Given the description of an element on the screen output the (x, y) to click on. 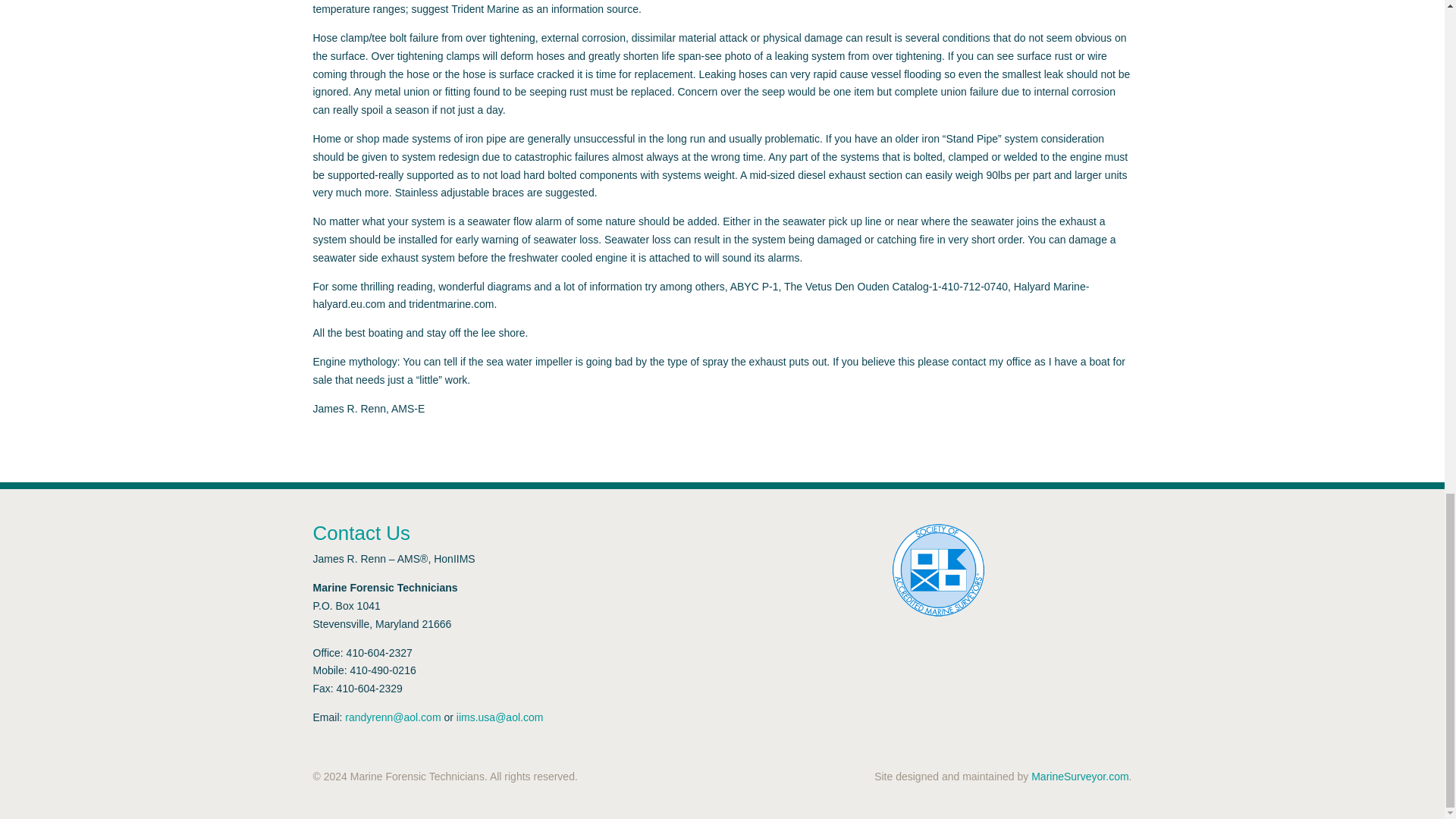
MarineSurveyor.com (1079, 776)
